Given the description of an element on the screen output the (x, y) to click on. 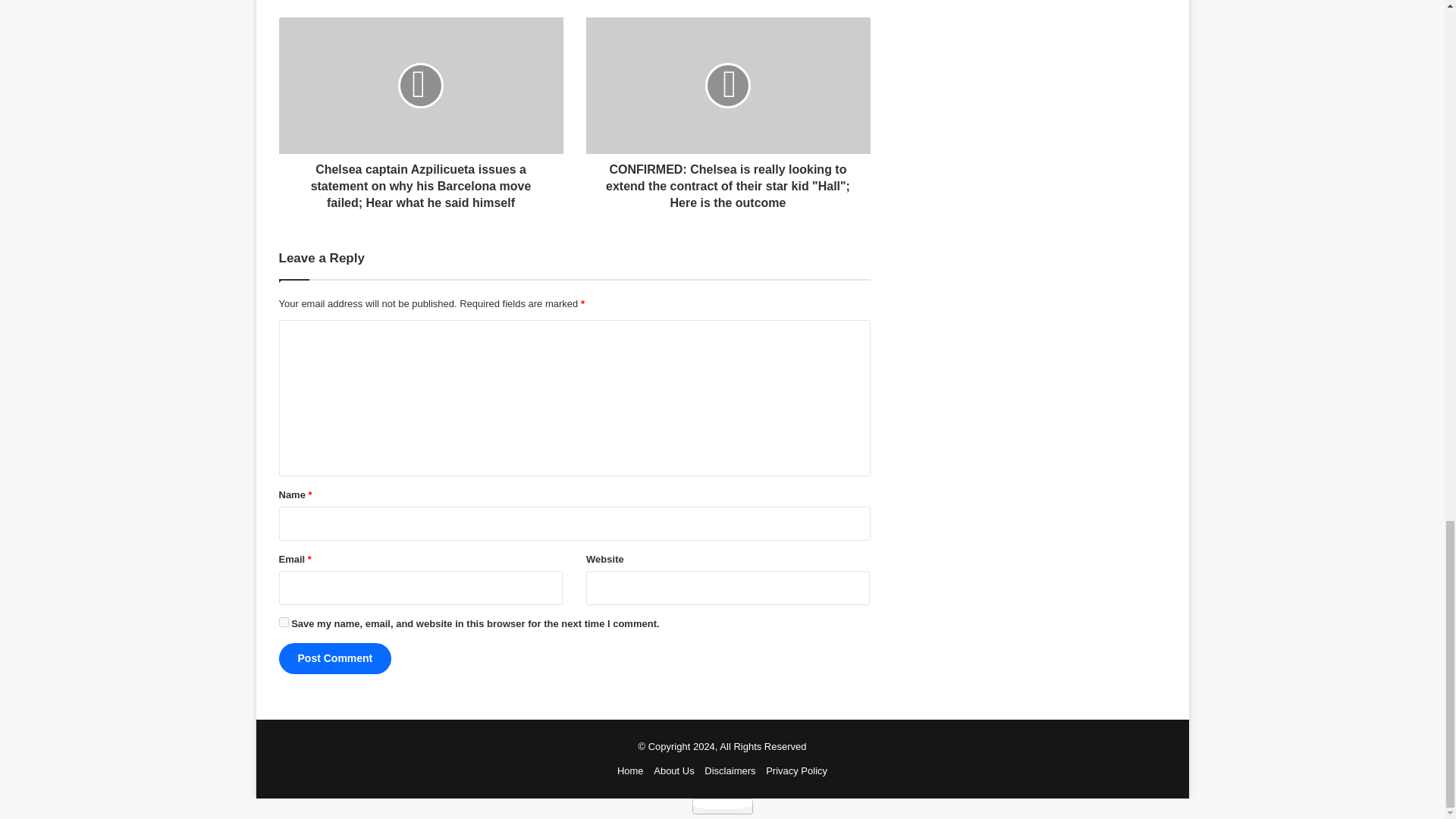
Free Online Counter (721, 806)
yes (283, 622)
Post Comment (335, 658)
Post Comment (335, 658)
Home (630, 770)
